Given the description of an element on the screen output the (x, y) to click on. 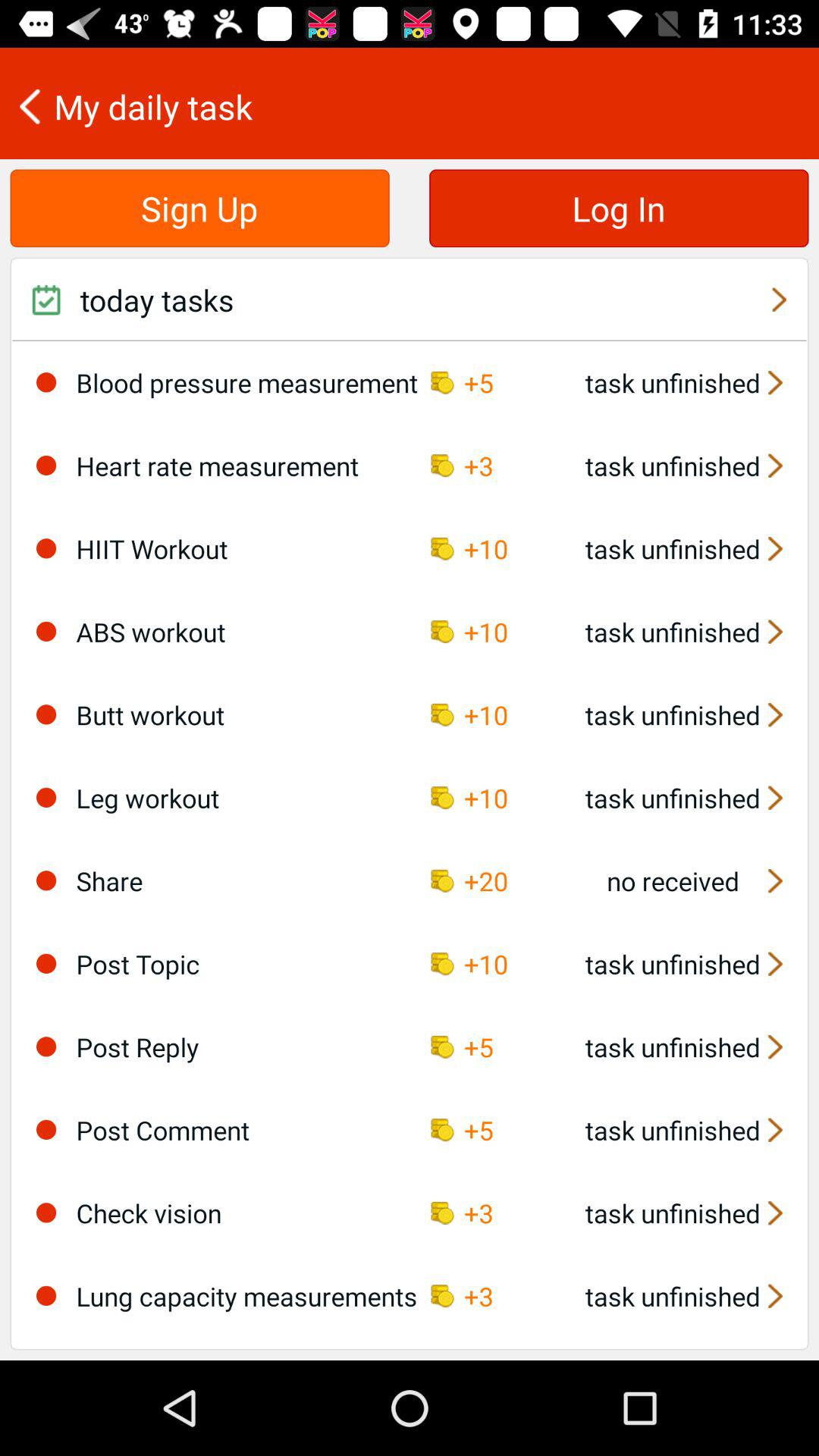
click the icon to the left of lung capacity measurements icon (46, 1295)
